Given the description of an element on the screen output the (x, y) to click on. 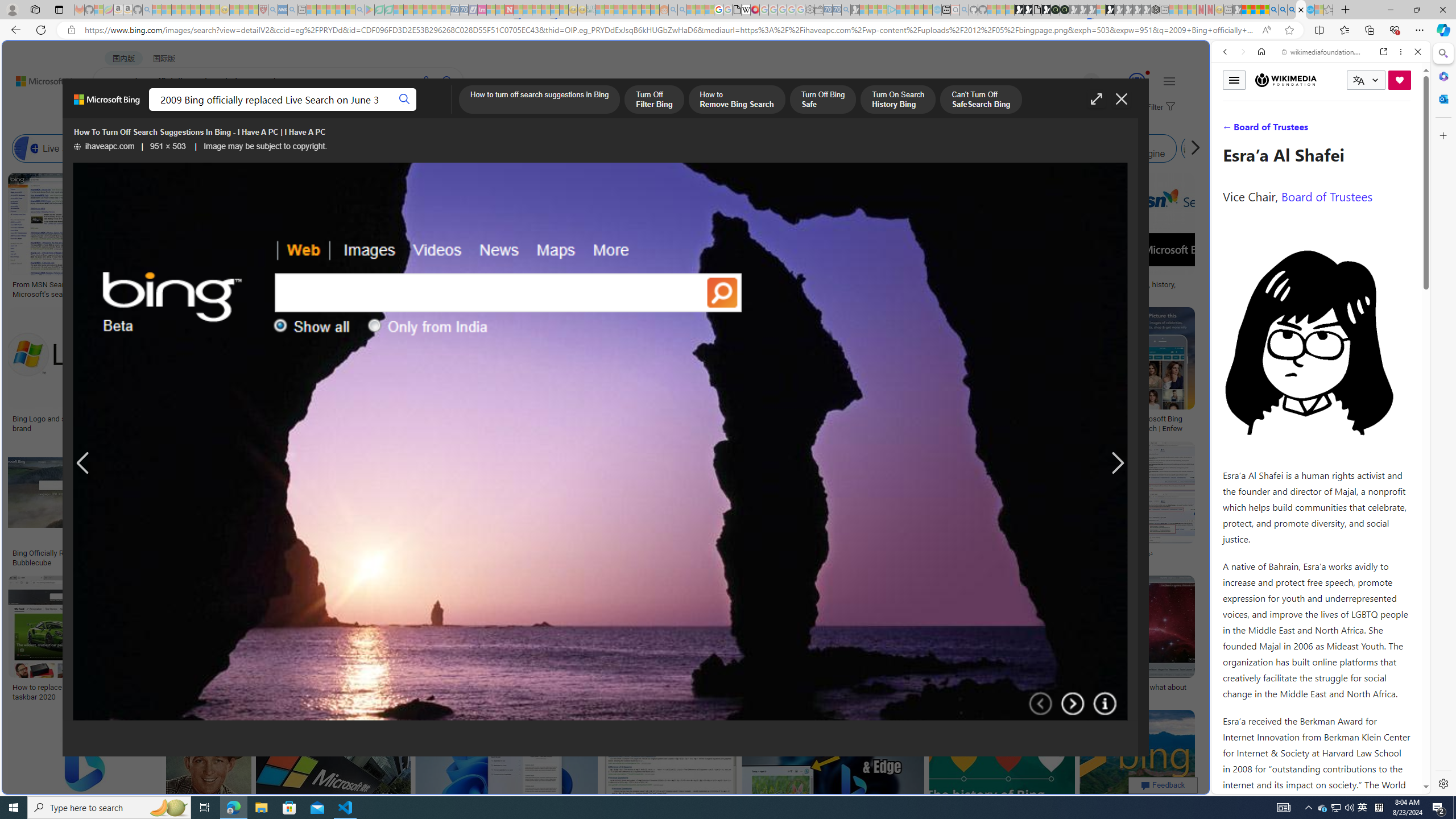
Bing Picture Search Engine (280, 148)
Play Free Online Games | Games from Microsoft Start (1018, 9)
Play Cave FRVR in your browser | Games from Microsoft Start (922, 242)
